Given the description of an element on the screen output the (x, y) to click on. 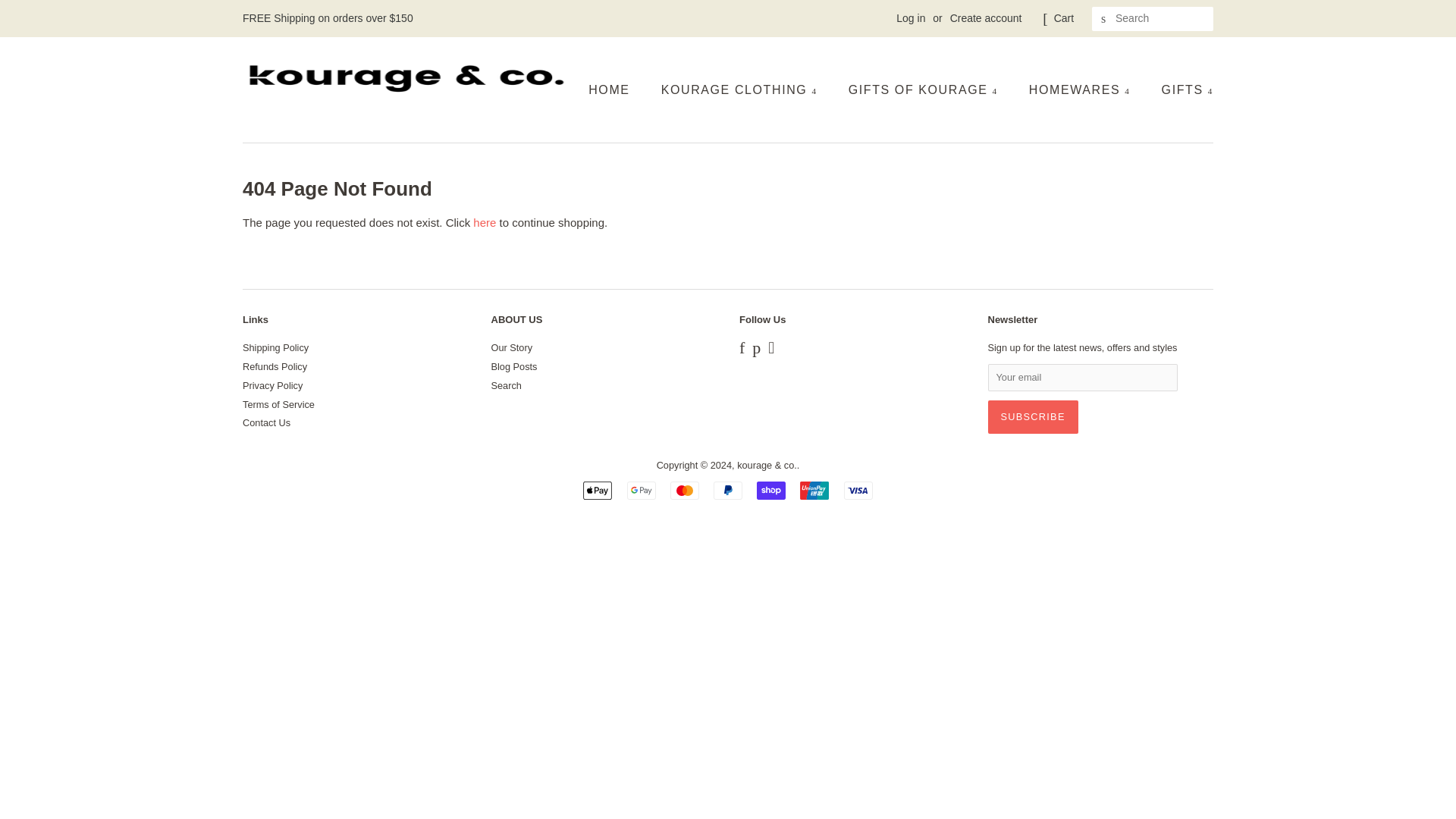
Mastercard (683, 490)
Create account (986, 18)
PayPal (727, 490)
Subscribe (1032, 417)
Visa (858, 490)
Google Pay (641, 490)
Apple Pay (597, 490)
Shop Pay (771, 490)
Log in (910, 18)
Cart (1064, 18)
